Given the description of an element on the screen output the (x, y) to click on. 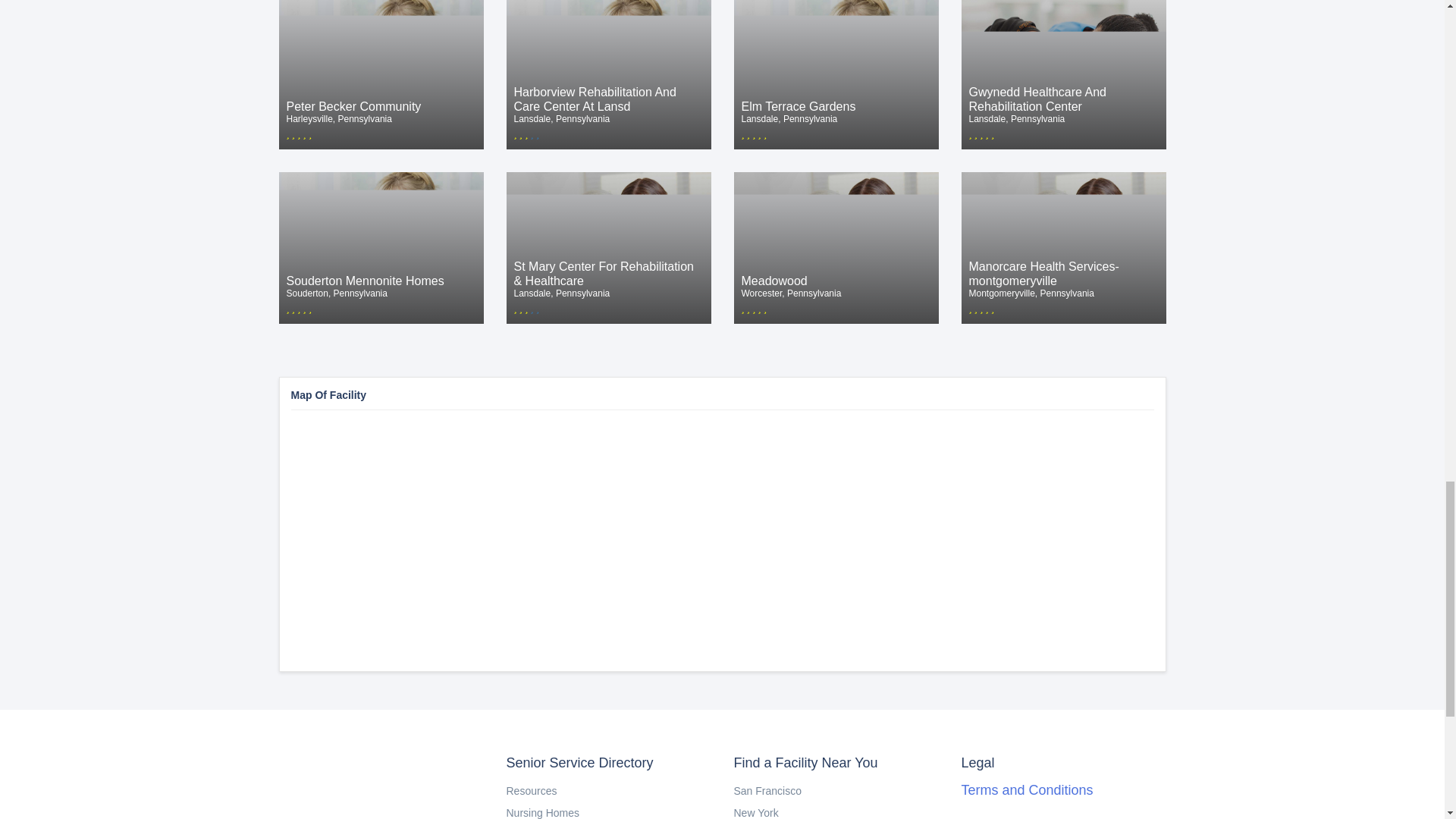
Terms and Conditions (1026, 789)
San Francisco (767, 790)
Nursing Homes (381, 74)
New York (381, 247)
